Given the description of an element on the screen output the (x, y) to click on. 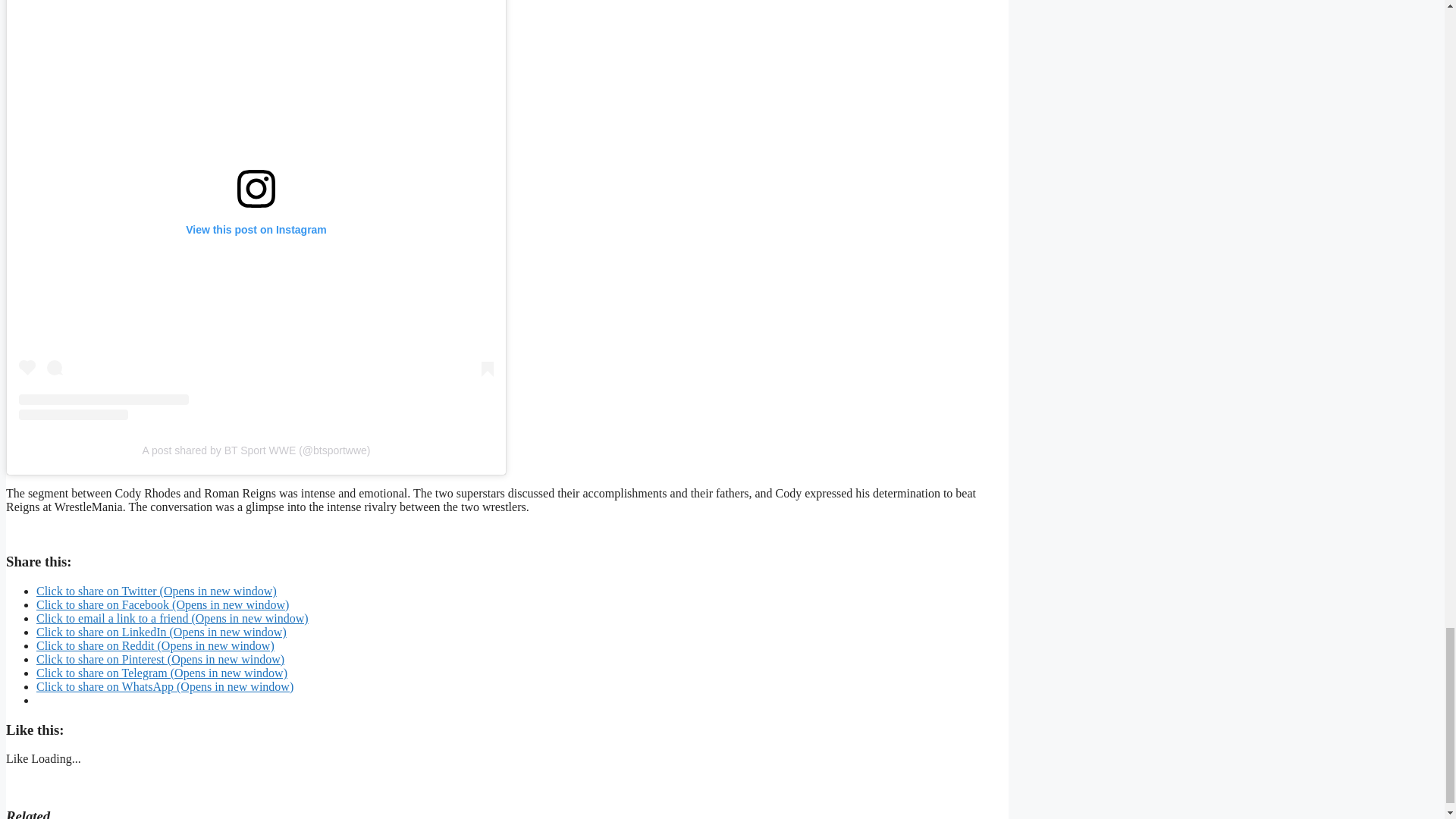
Click to share on Facebook (162, 604)
Click to share on WhatsApp (165, 686)
Click to share on Telegram (161, 672)
Click to share on Pinterest (159, 658)
Click to email a link to a friend (172, 617)
Click to share on Reddit (155, 645)
Click to share on Twitter (156, 590)
Click to share on LinkedIn (161, 631)
